Given the description of an element on the screen output the (x, y) to click on. 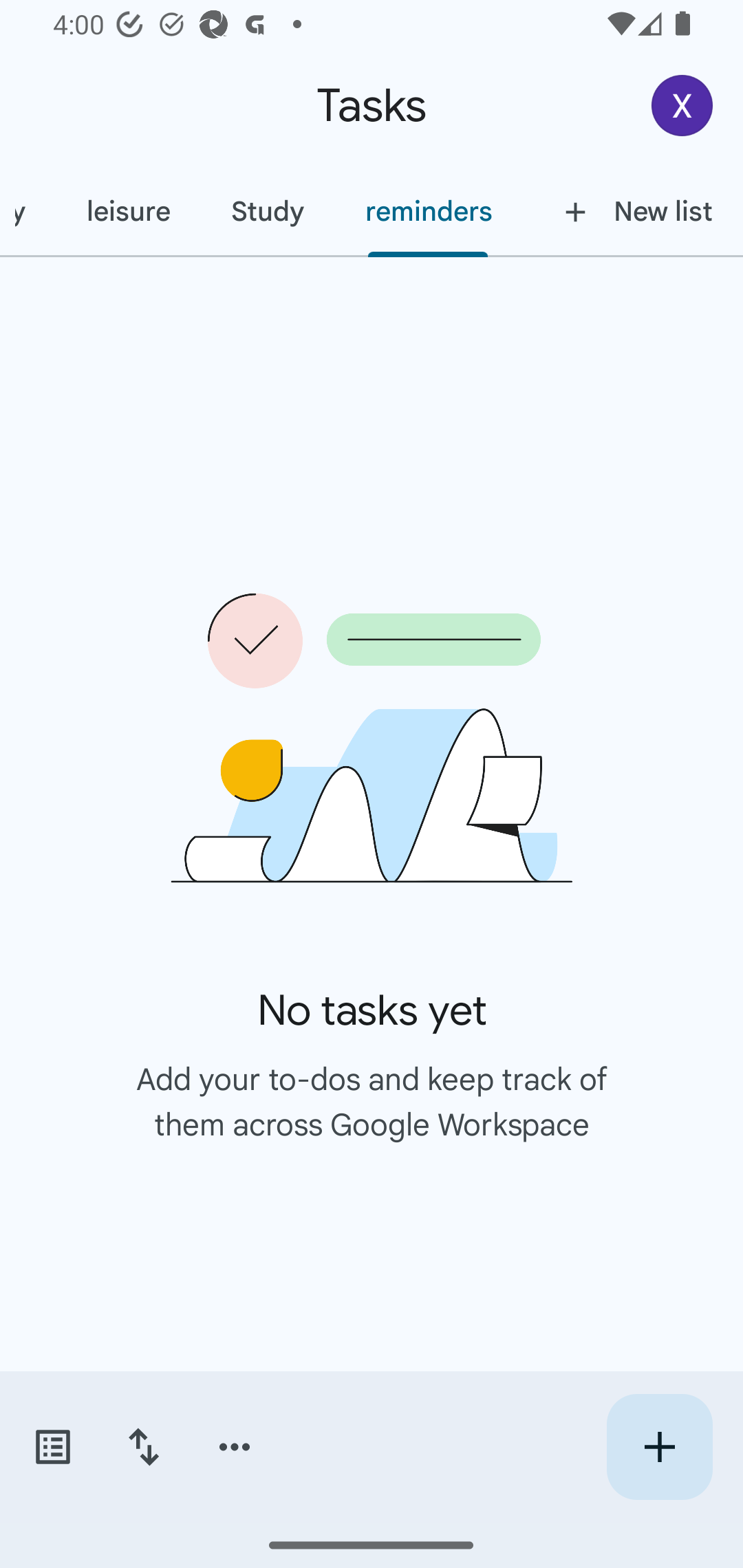
leisure (127, 211)
Study (266, 211)
New list (632, 211)
Switch task lists (52, 1447)
Create new task (659, 1446)
Change sort order (143, 1446)
More options (234, 1446)
